Given the description of an element on the screen output the (x, y) to click on. 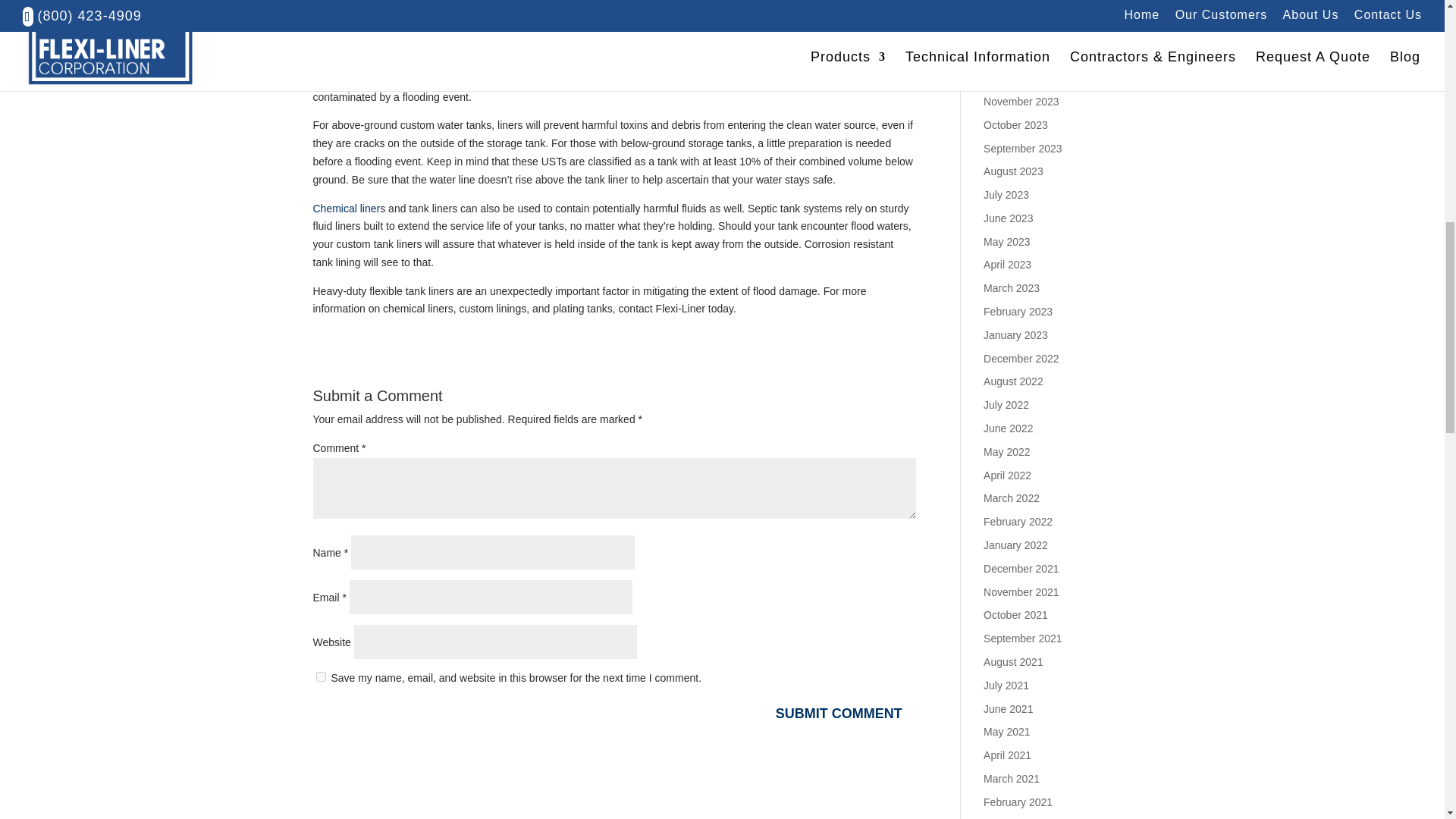
Chemical liner (346, 207)
yes (319, 676)
Submit Comment (838, 712)
Submit Comment (838, 712)
